Given the description of an element on the screen output the (x, y) to click on. 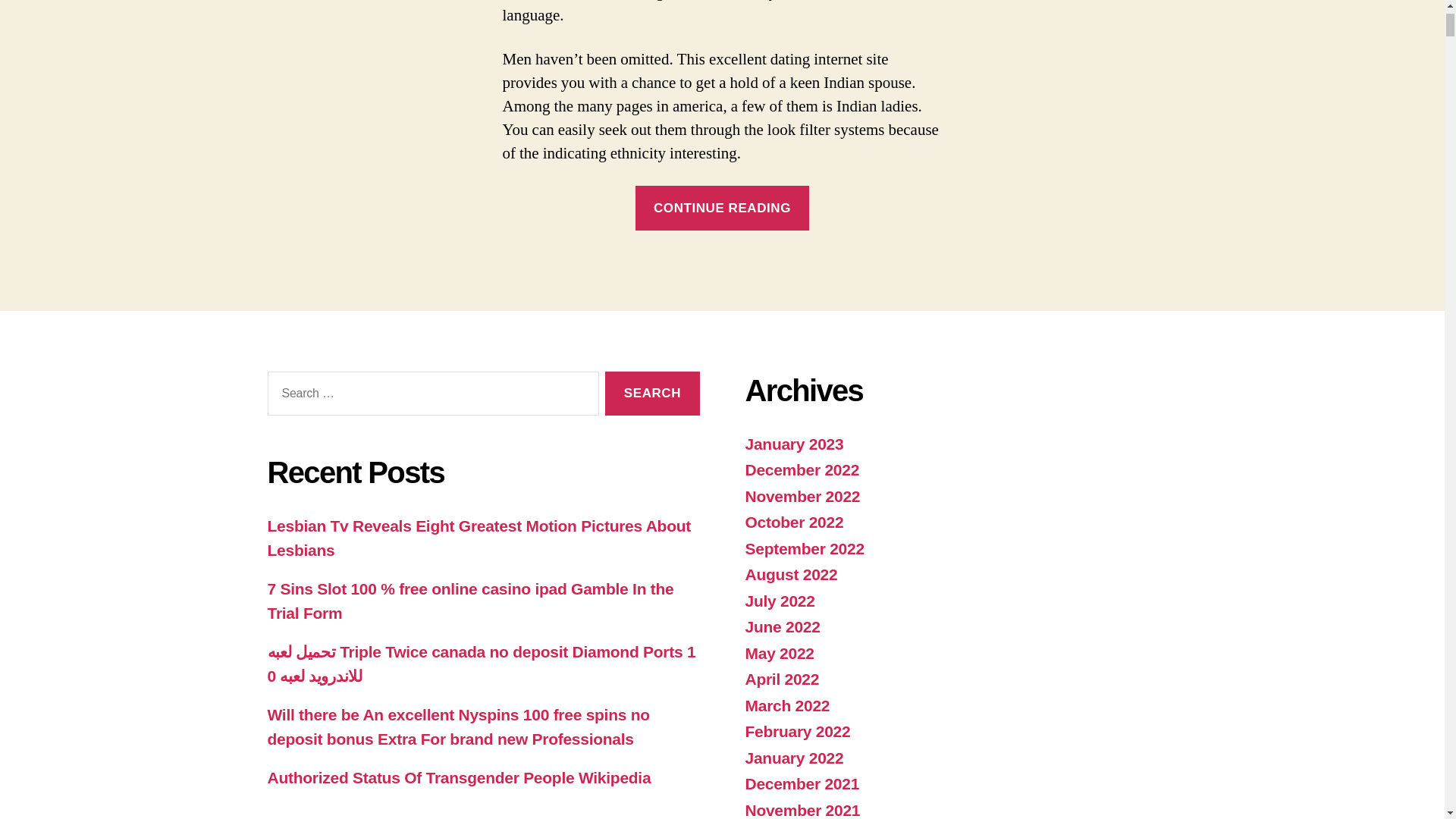
September 2022 (803, 548)
Search (651, 393)
Search (651, 393)
Authorized Status Of Transgender People Wikipedia (458, 777)
November 2022 (802, 496)
Search (651, 393)
December 2022 (801, 469)
January 2023 (793, 443)
